Given the description of an element on the screen output the (x, y) to click on. 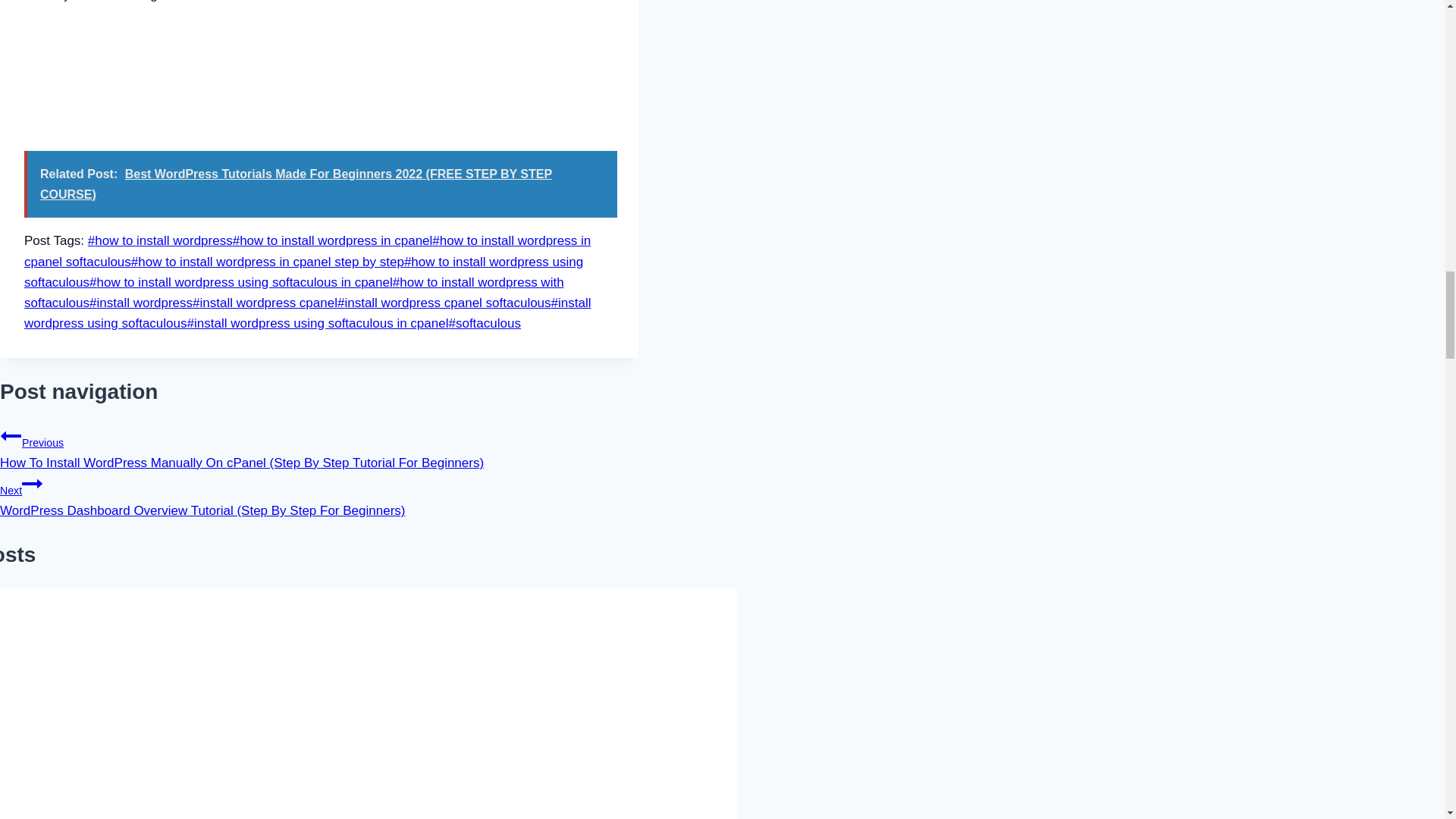
how to install wordpress with softaculous (294, 292)
Continue (31, 483)
softaculous (483, 323)
how to install wordpress in cpanel softaculous (307, 250)
install wordpress cpanel softaculous (444, 302)
how to install wordpress (159, 240)
how to install wordpress using softaculous (303, 271)
Previous (10, 435)
how to install wordpress in cpanel (332, 240)
install wordpress cpanel (264, 302)
